Given the description of an element on the screen output the (x, y) to click on. 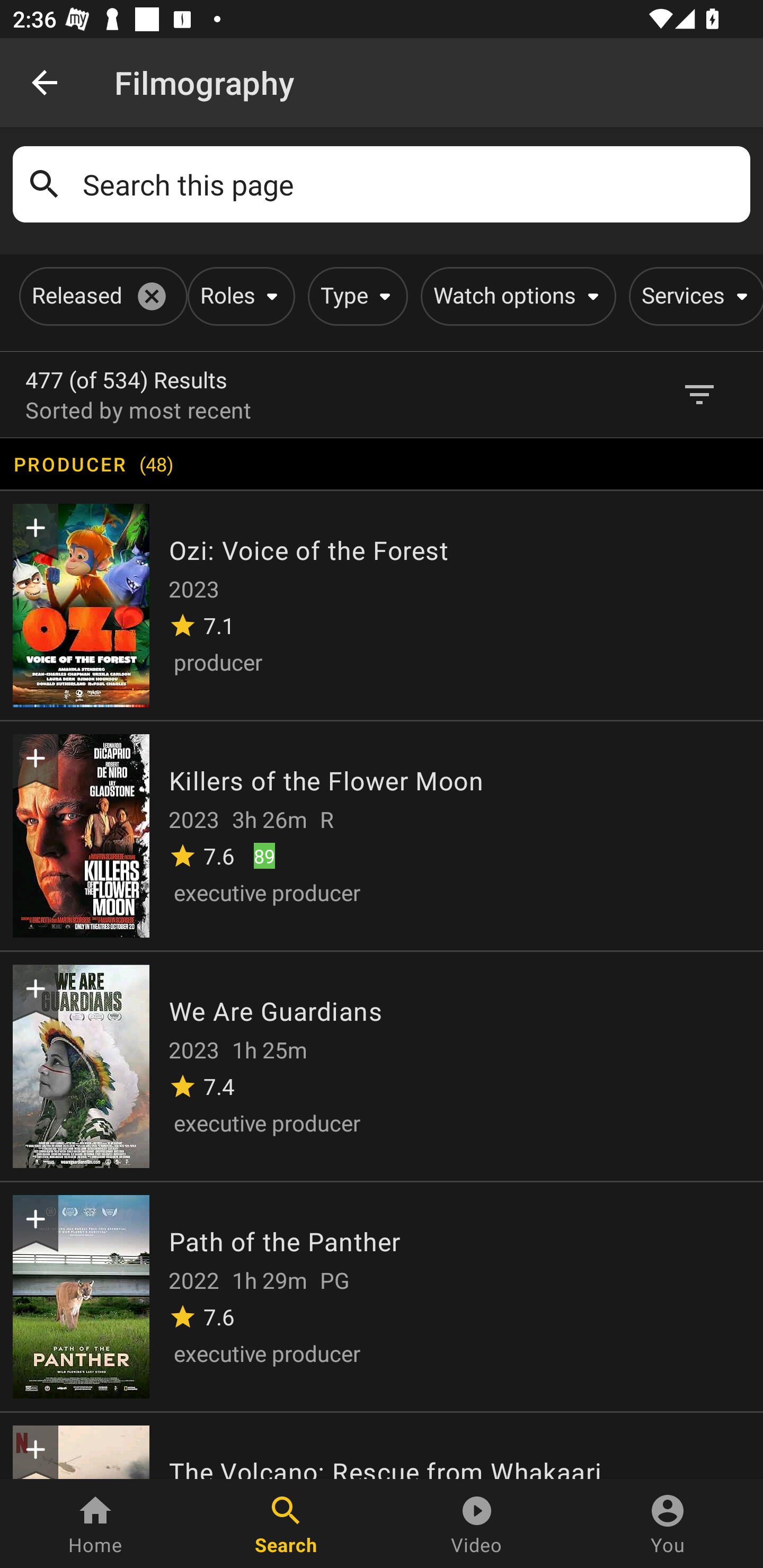
Search this page (410, 184)
Released (100, 296)
Roles (237, 296)
Type (354, 296)
Watch options (514, 296)
Services (693, 296)
Ozi: Voice of the Forest 2023 7.1  producer (381, 604)
Home (95, 1523)
Video (476, 1523)
You (667, 1523)
